Given the description of an element on the screen output the (x, y) to click on. 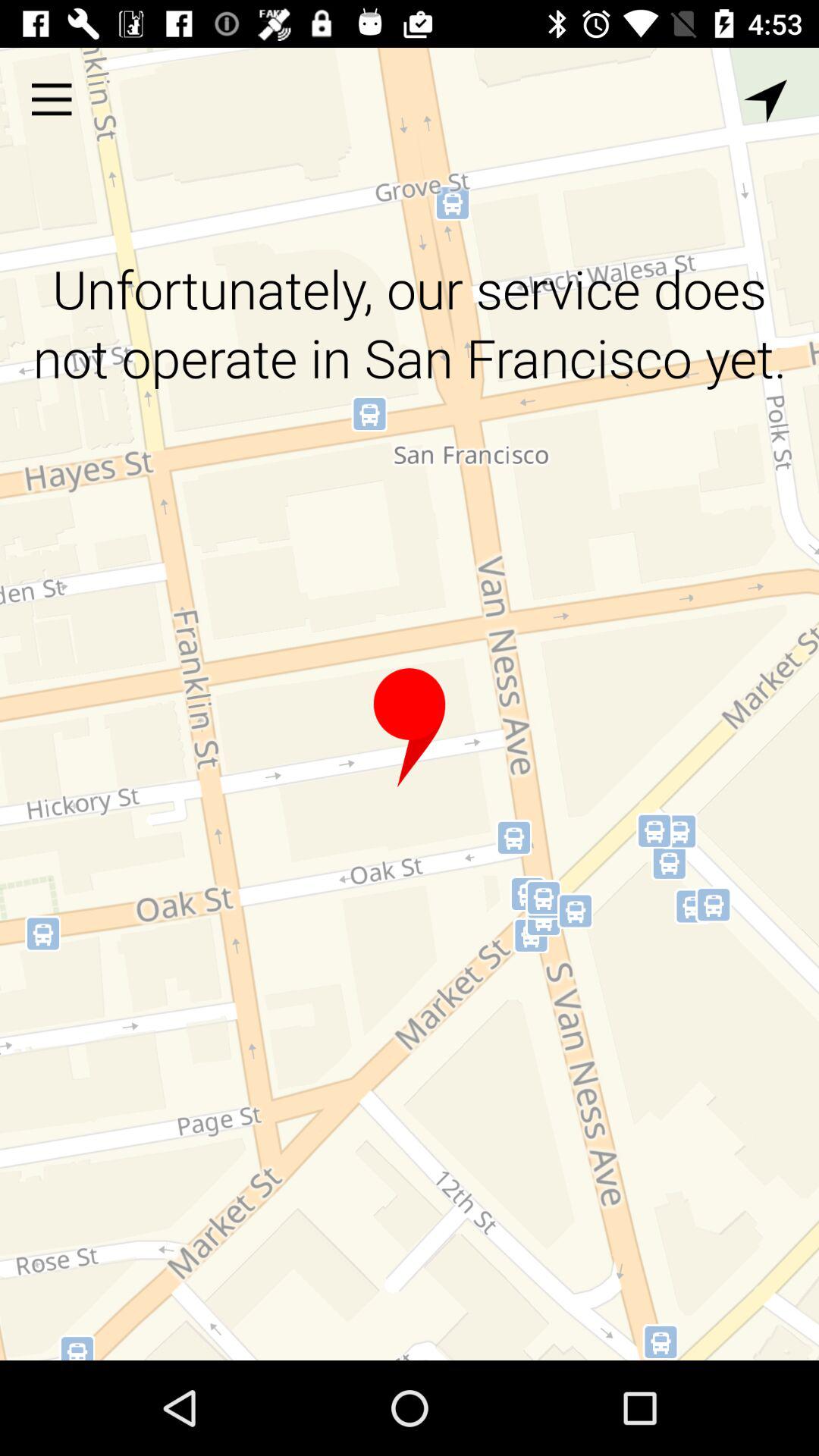
turn on the item below the unfortunately our service (409, 727)
